Given the description of an element on the screen output the (x, y) to click on. 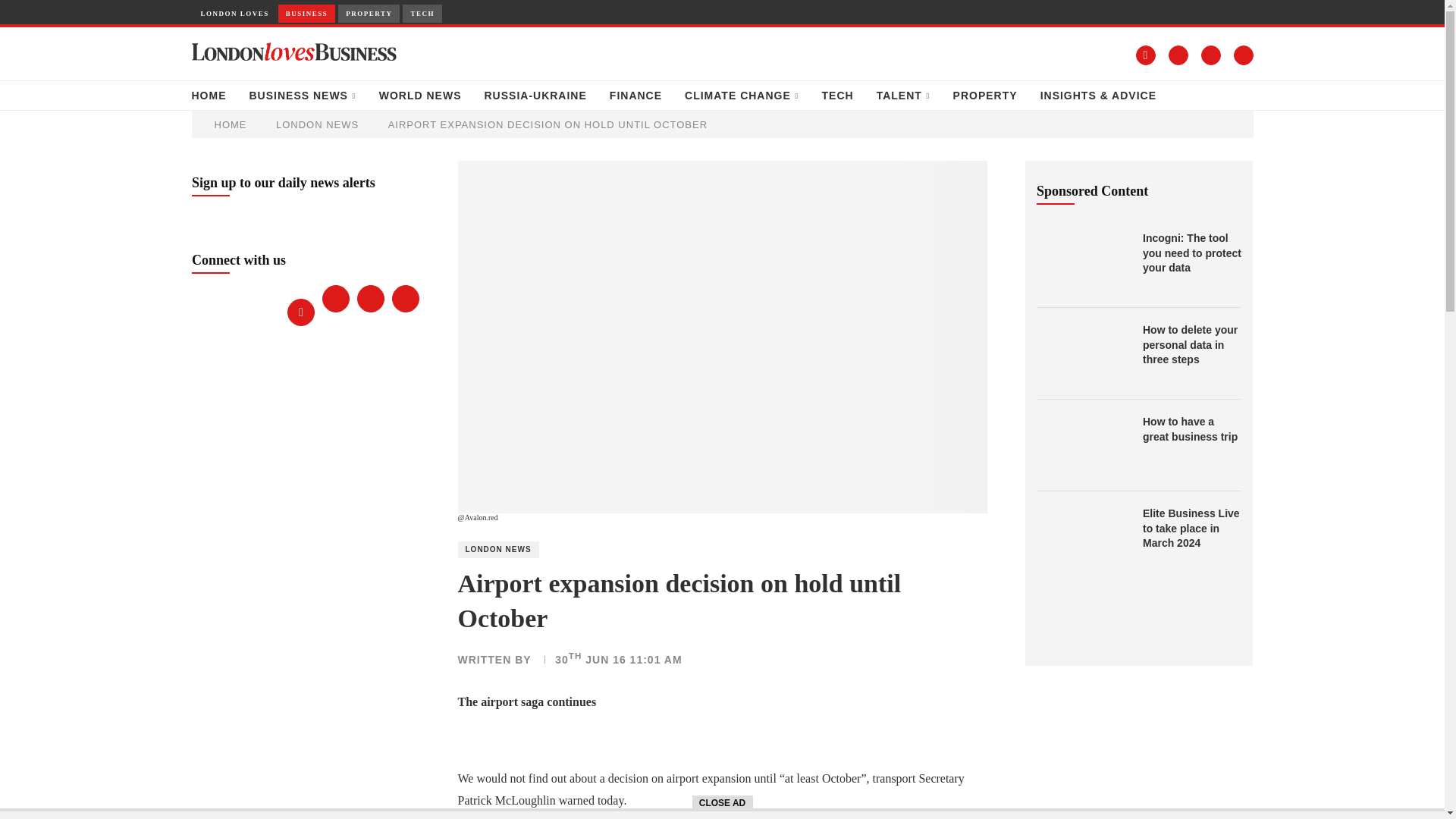
Incogni: The tool you need to protect your data (1081, 260)
Incogni: The tool you need to protect your data (1191, 253)
How to have a great business trip (1191, 429)
How to have a great business trip (1081, 444)
How to delete your personal data in three steps (1081, 353)
How to delete your personal data in three steps (1191, 344)
